Given the description of an element on the screen output the (x, y) to click on. 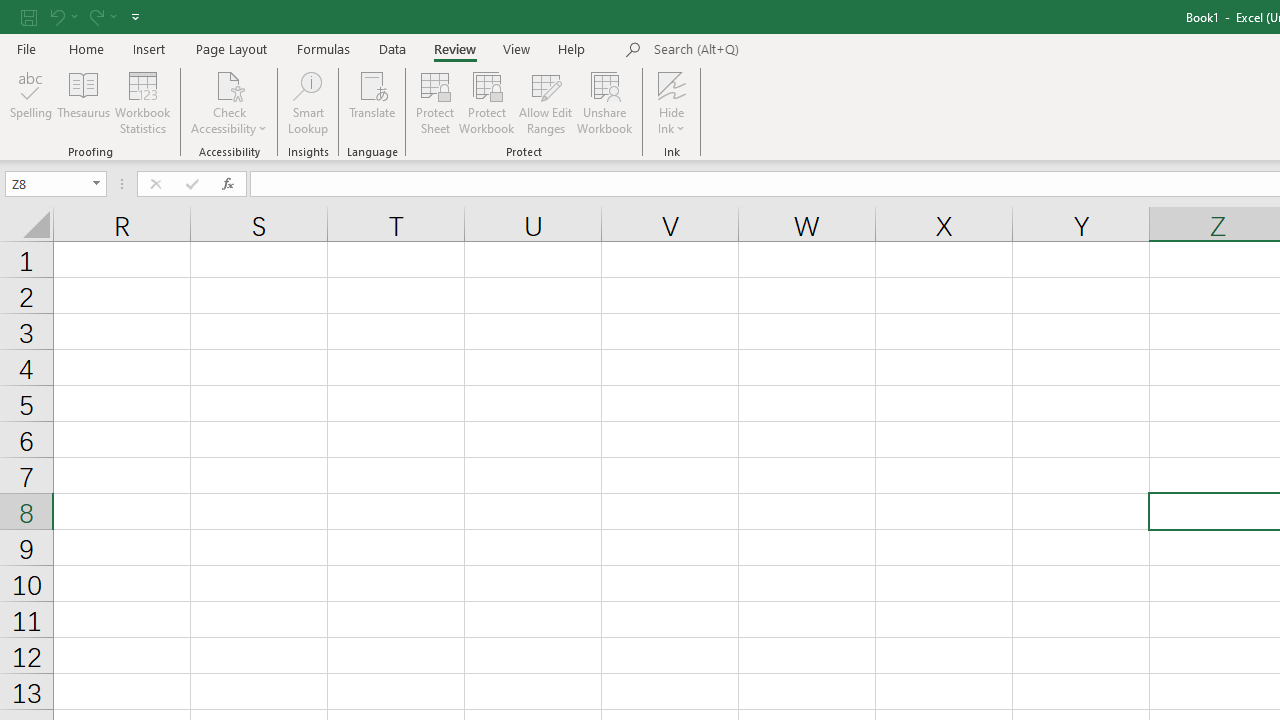
Allow Edit Ranges (545, 102)
